Given the description of an element on the screen output the (x, y) to click on. 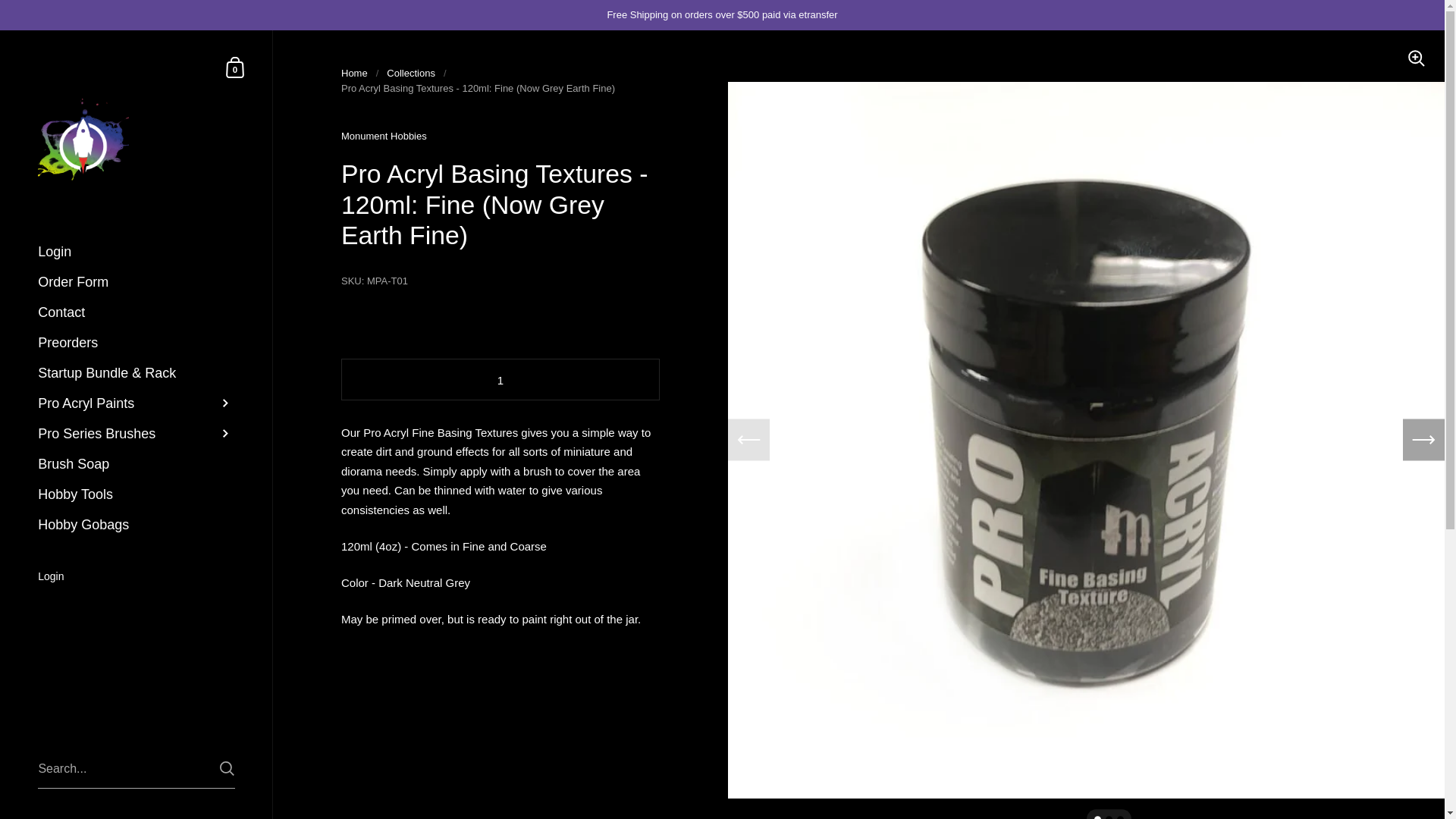
Pro Acryl Paints (136, 403)
Contact (136, 312)
Login (136, 577)
Hobby Tools (136, 494)
1 (500, 380)
Hobby Gobags (136, 524)
Collections (411, 72)
Home (354, 72)
Pro Series Brushes (235, 66)
Preorders (136, 433)
Skip to content (136, 342)
Order Form (136, 463)
Login (136, 281)
